Given the description of an element on the screen output the (x, y) to click on. 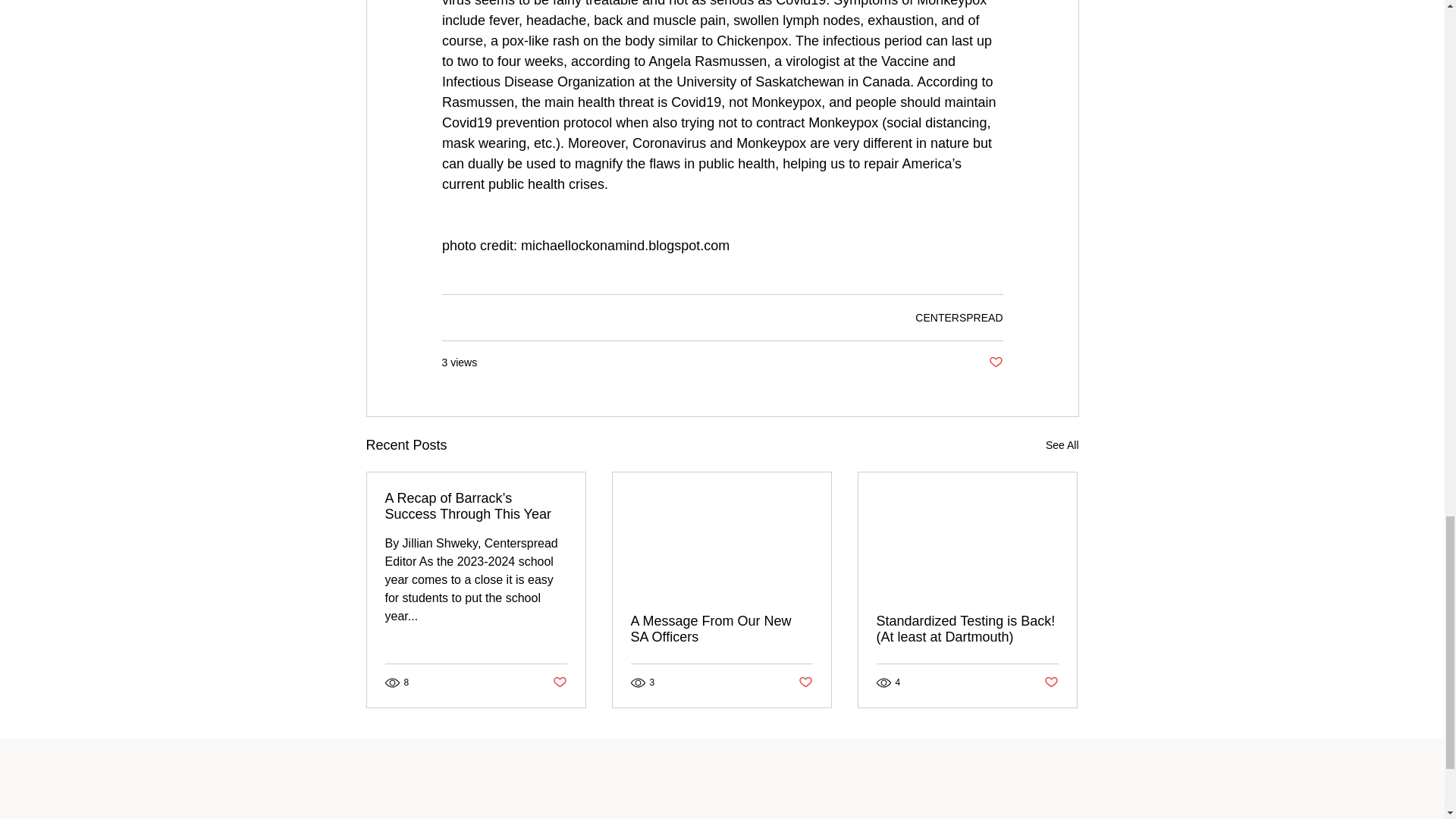
A Message From Our New SA Officers (721, 629)
Post not marked as liked (804, 682)
Post not marked as liked (1050, 682)
CENTERSPREAD (959, 316)
Post not marked as liked (558, 682)
See All (1061, 445)
Post not marked as liked (995, 362)
